Given the description of an element on the screen output the (x, y) to click on. 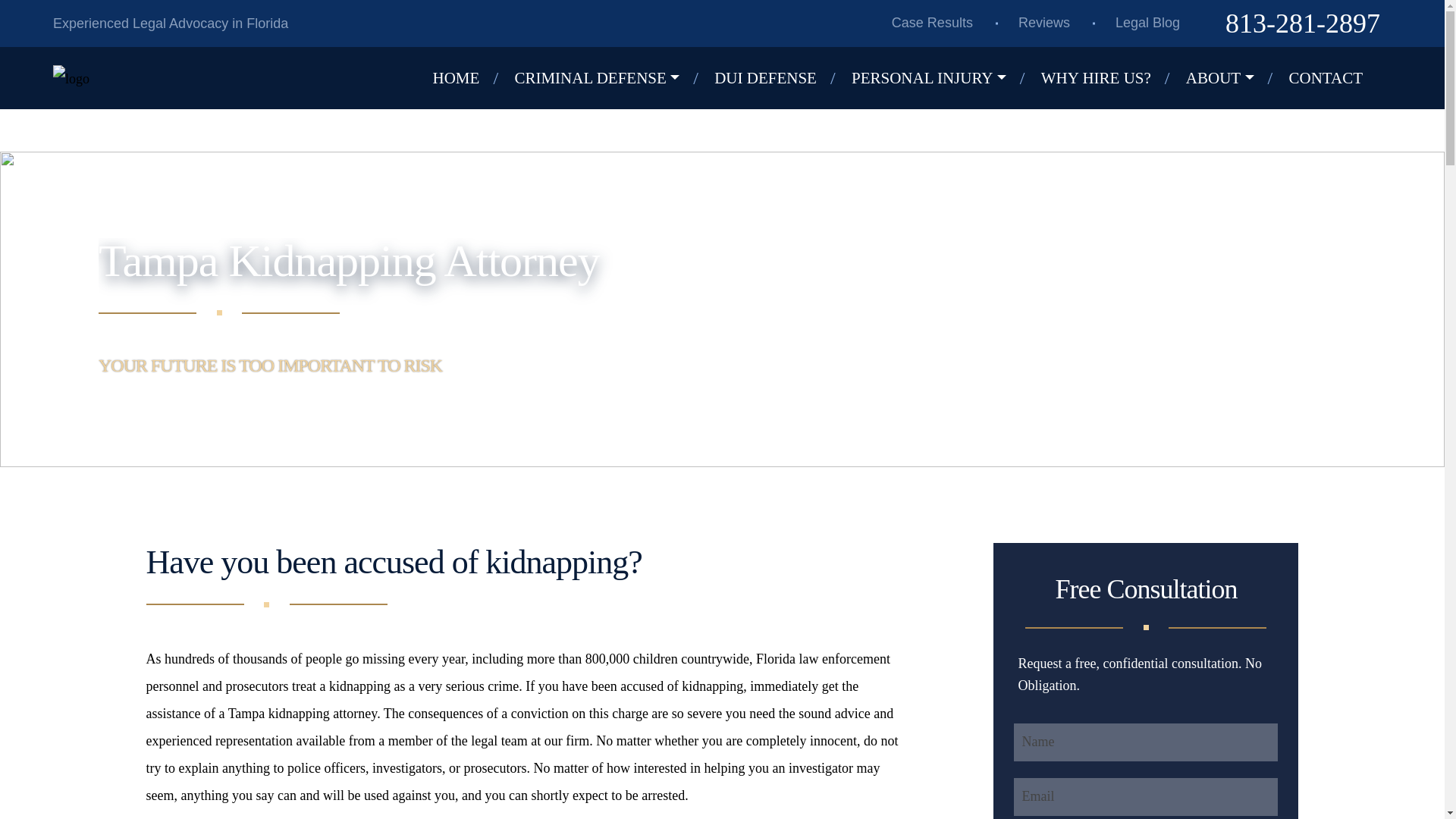
DUI DEFENSE (777, 78)
CONTACT (1337, 78)
PERSONAL INJURY (940, 78)
Criminal Defense (607, 78)
Reviews (1044, 22)
ABOUT (1231, 78)
Legal Blog (1147, 22)
HOME (467, 78)
Home (467, 78)
813-281-2897 (1302, 23)
